Given the description of an element on the screen output the (x, y) to click on. 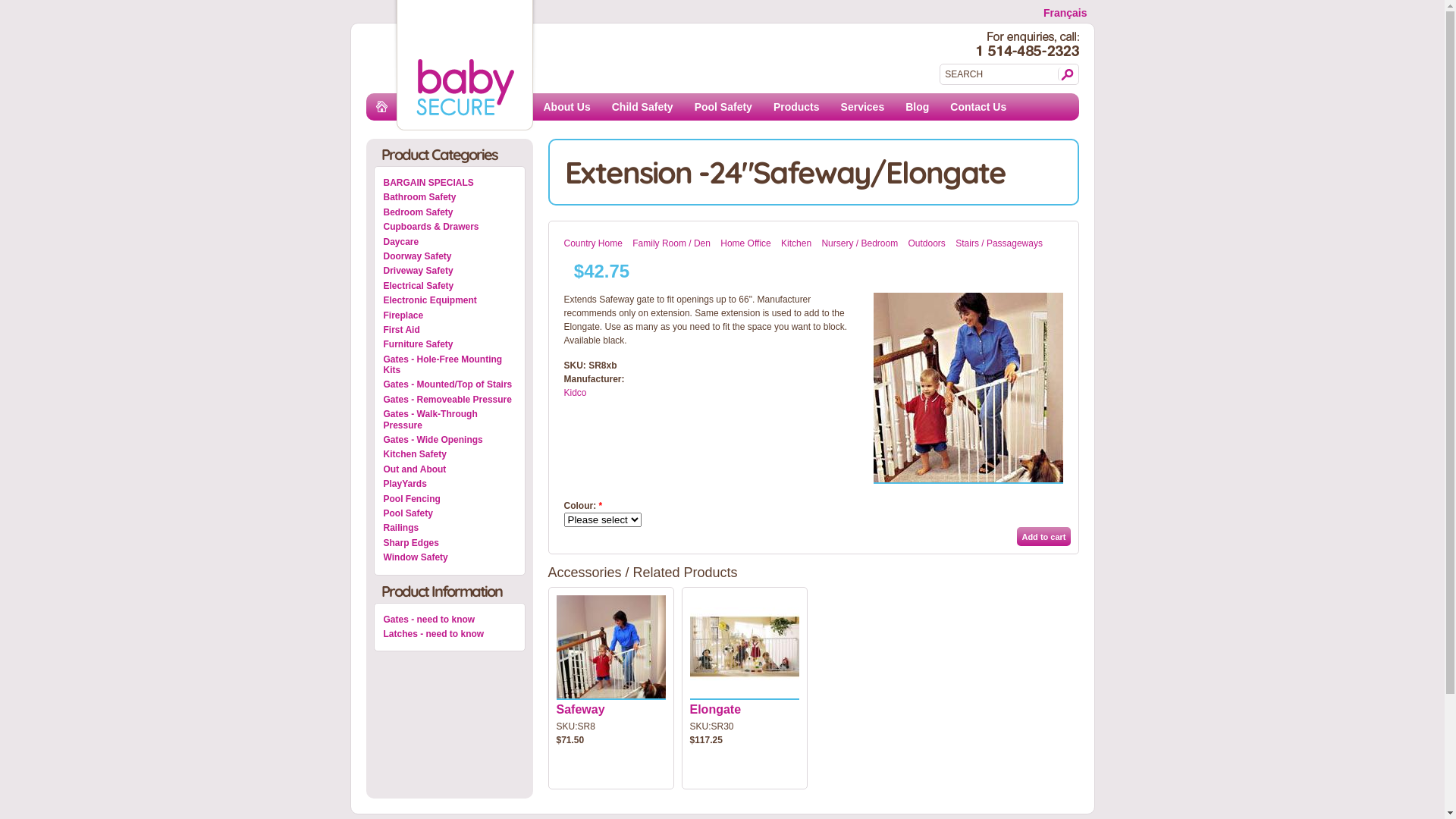
First Aid Element type: text (449, 329)
Bathroom Safety Element type: text (449, 196)
Pool Safety Element type: text (723, 106)
Daycare Element type: text (449, 241)
Doorway Safety Element type: text (449, 256)
Kitchen Element type: text (796, 243)
Gates - Wide Openings Element type: text (449, 439)
Contact Us Element type: text (977, 106)
Services Element type: text (862, 106)
Blog Element type: text (916, 106)
Sharp Edges Element type: text (449, 542)
Add to cart Element type: text (1043, 536)
Home Element type: hover (463, 112)
Driveway Safety Element type: text (449, 270)
About Us Element type: text (566, 106)
Nursery / Bedroom Element type: text (859, 243)
Furniture Safety Element type: text (449, 343)
Search Element type: text (1065, 74)
Child Safety Element type: text (642, 106)
Window Safety Element type: text (449, 557)
Cupboards & Drawers Element type: text (449, 226)
Stairs / Passageways Element type: text (998, 243)
Products Element type: text (796, 106)
Gates - Walk-Through Pressure Element type: text (449, 419)
Outdoors Element type: text (926, 243)
Safeway Element type: text (580, 708)
Fireplace Element type: text (449, 315)
Gates - Hole-Free Mounting Kits Element type: text (449, 365)
Pool Safety Element type: text (449, 513)
Enter the terms you wish to search for. Element type: hover (999, 74)
Country Home Element type: text (593, 243)
Home Office Element type: text (745, 243)
Kidco Element type: text (575, 392)
Family Room / Den Element type: text (671, 243)
Pool Fencing Element type: text (449, 498)
Electronic Equipment Element type: text (449, 299)
BARGAIN SPECIALS Element type: text (449, 182)
Gates - Mounted/Top of Stairs Element type: text (449, 384)
Kitchen Safety Element type: text (449, 453)
Out and About Element type: text (449, 469)
PlayYards Element type: text (449, 483)
Gates - need to know Element type: text (449, 619)
Gates - Removeable Pressure Element type: text (449, 399)
Elongate Element type: text (715, 708)
Bedroom Safety Element type: text (449, 212)
Latches - need to know Element type: text (449, 633)
Home Element type: text (389, 113)
Railings Element type: text (449, 527)
Electrical Safety Element type: text (449, 285)
